Given the description of an element on the screen output the (x, y) to click on. 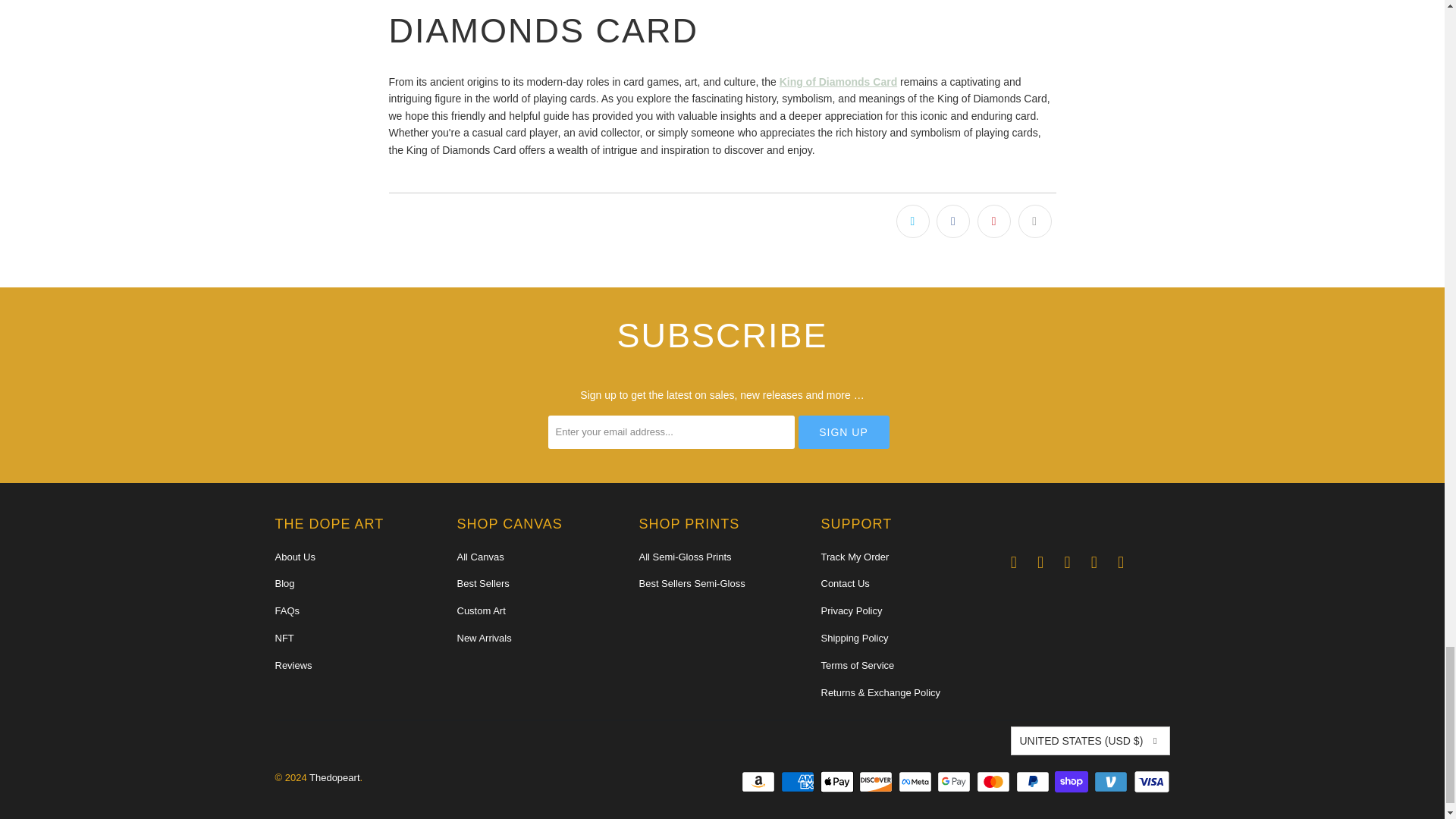
Email this to a friend (1034, 221)
Mastercard (994, 781)
Thedopeart on Twitter (1120, 562)
Visa (1150, 781)
American Express (798, 781)
Thedopeart on Facebook (1040, 562)
Share this on Twitter (913, 221)
Discover (877, 781)
Thedopeart on Pinterest (1094, 562)
Apple Pay (839, 781)
Email Thedopeart (1014, 562)
Amazon (759, 781)
Share this on Facebook (952, 221)
Venmo (1112, 781)
Sign Up (842, 431)
